Given the description of an element on the screen output the (x, y) to click on. 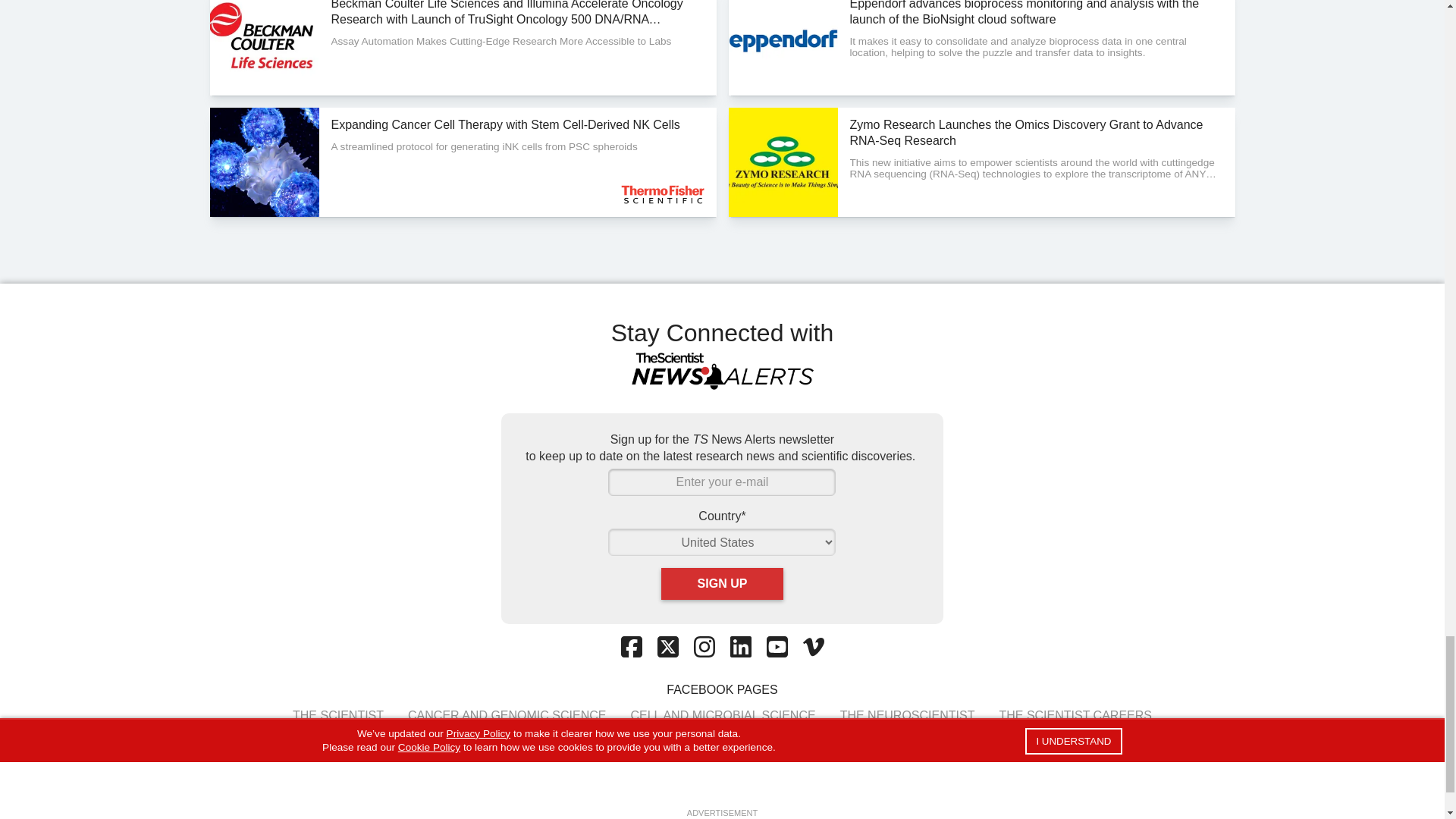
Sign Up (722, 583)
